Given the description of an element on the screen output the (x, y) to click on. 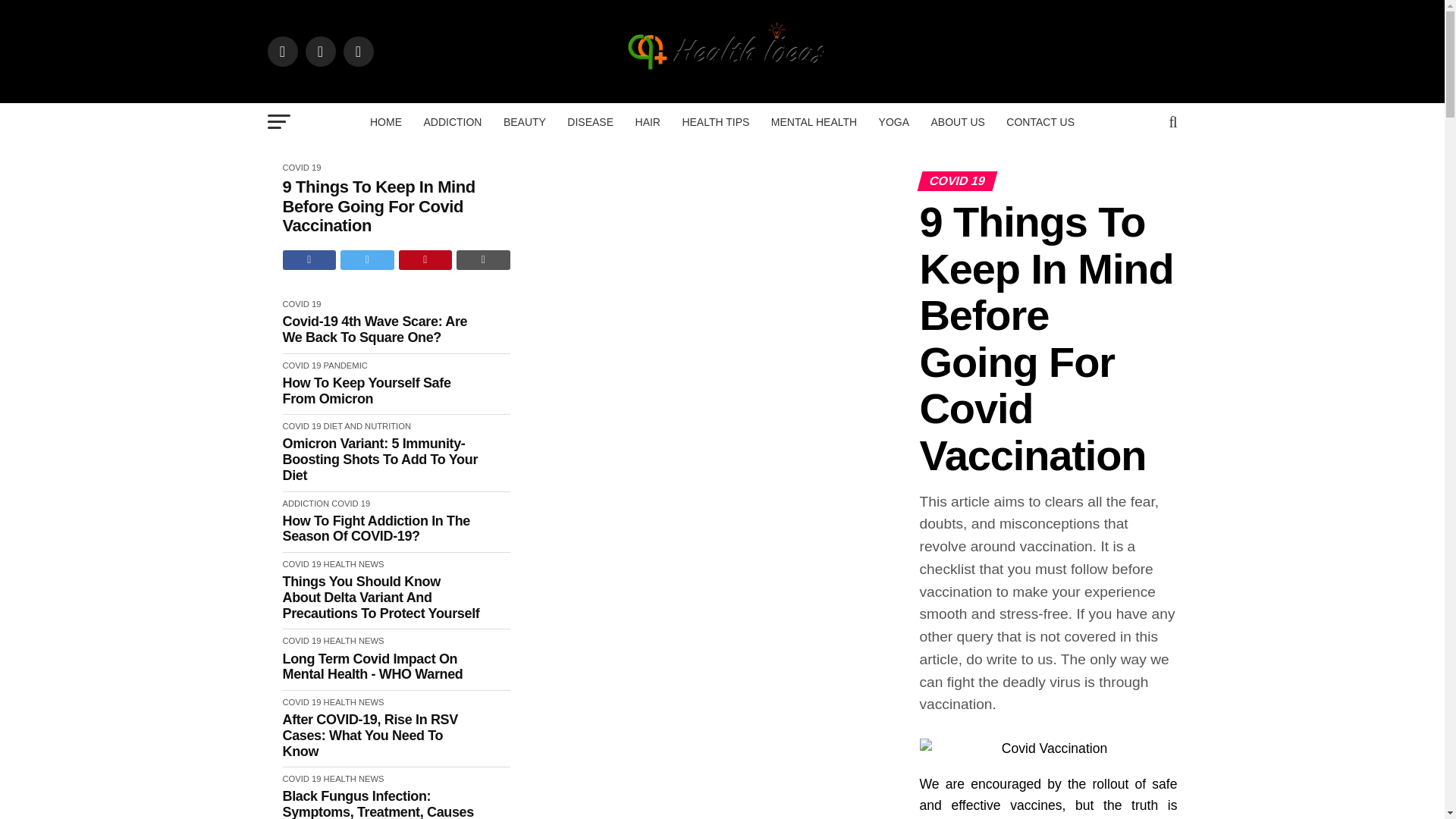
HOME (385, 121)
Share on Facebook (309, 260)
ADDICTION (451, 121)
BEAUTY (524, 121)
Tweet This Post (367, 260)
HAIR (647, 121)
DISEASE (590, 121)
Pin This Post (425, 260)
